Given the description of an element on the screen output the (x, y) to click on. 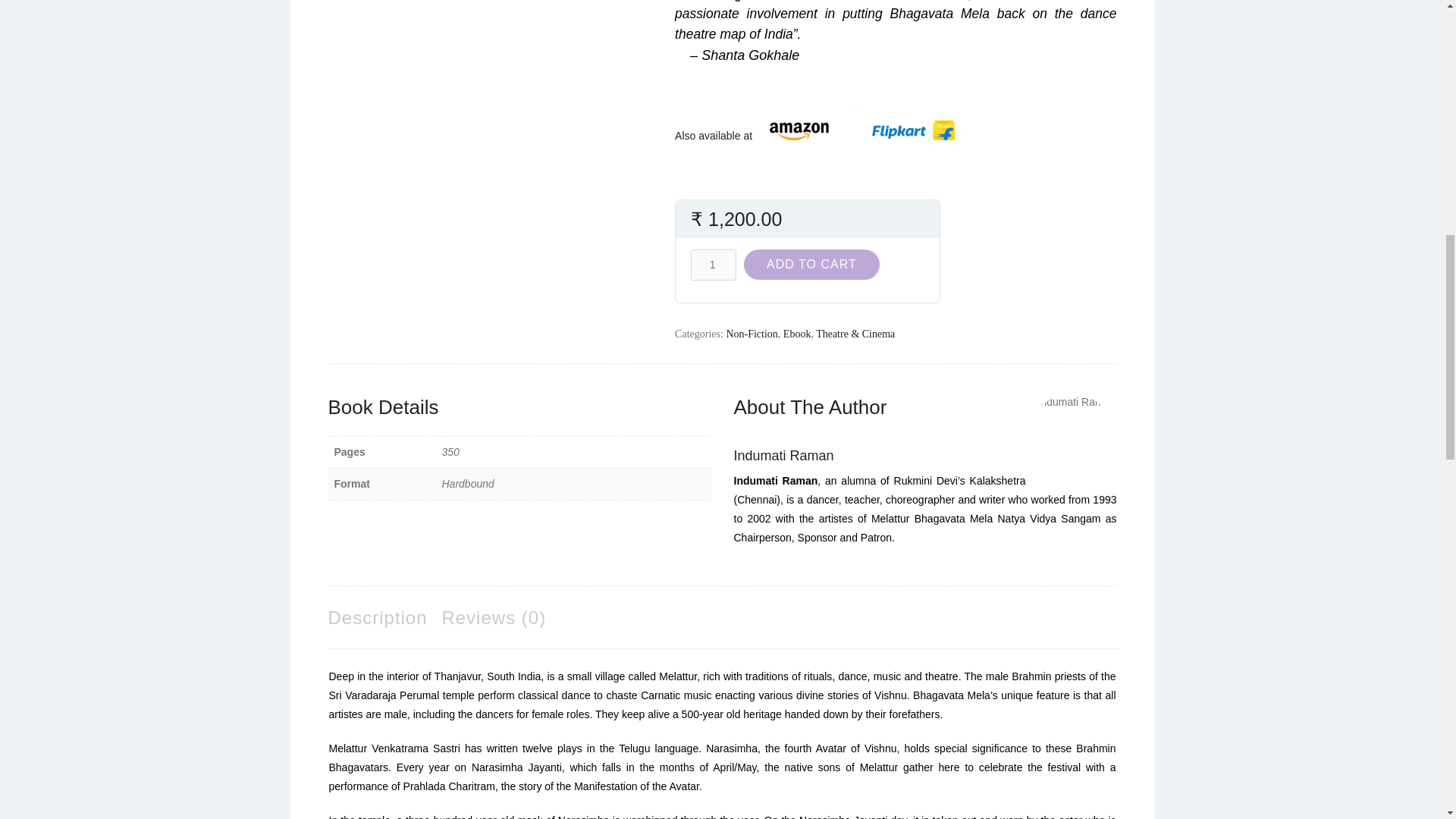
ADD TO CART (811, 264)
1 (713, 264)
Ebook (796, 333)
Non-Fiction (751, 333)
Also available at   (718, 135)
